Given the description of an element on the screen output the (x, y) to click on. 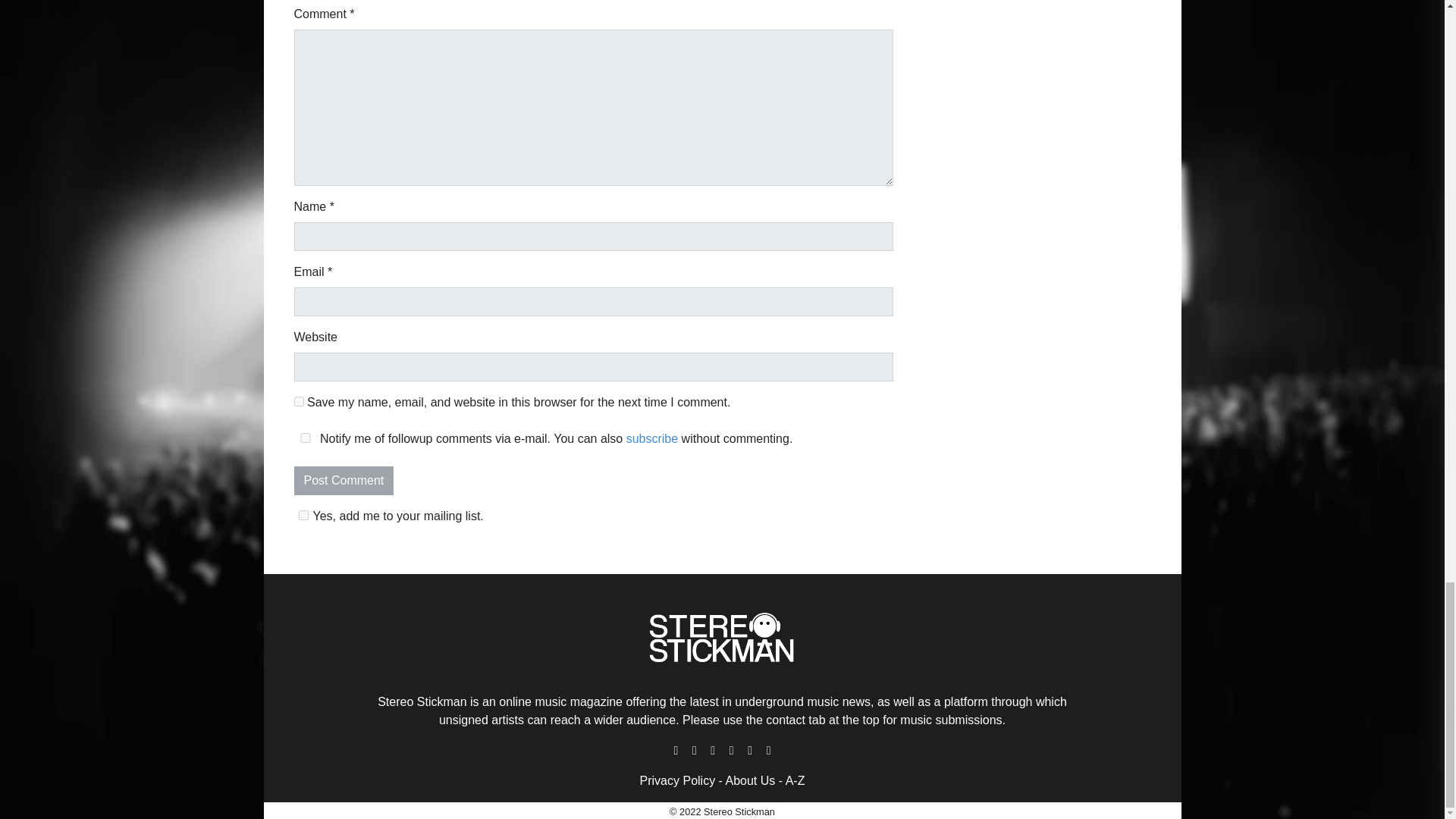
subscribe (652, 438)
Post Comment (344, 480)
Post Comment (344, 480)
yes (305, 438)
yes (299, 401)
1 (303, 515)
